Given the description of an element on the screen output the (x, y) to click on. 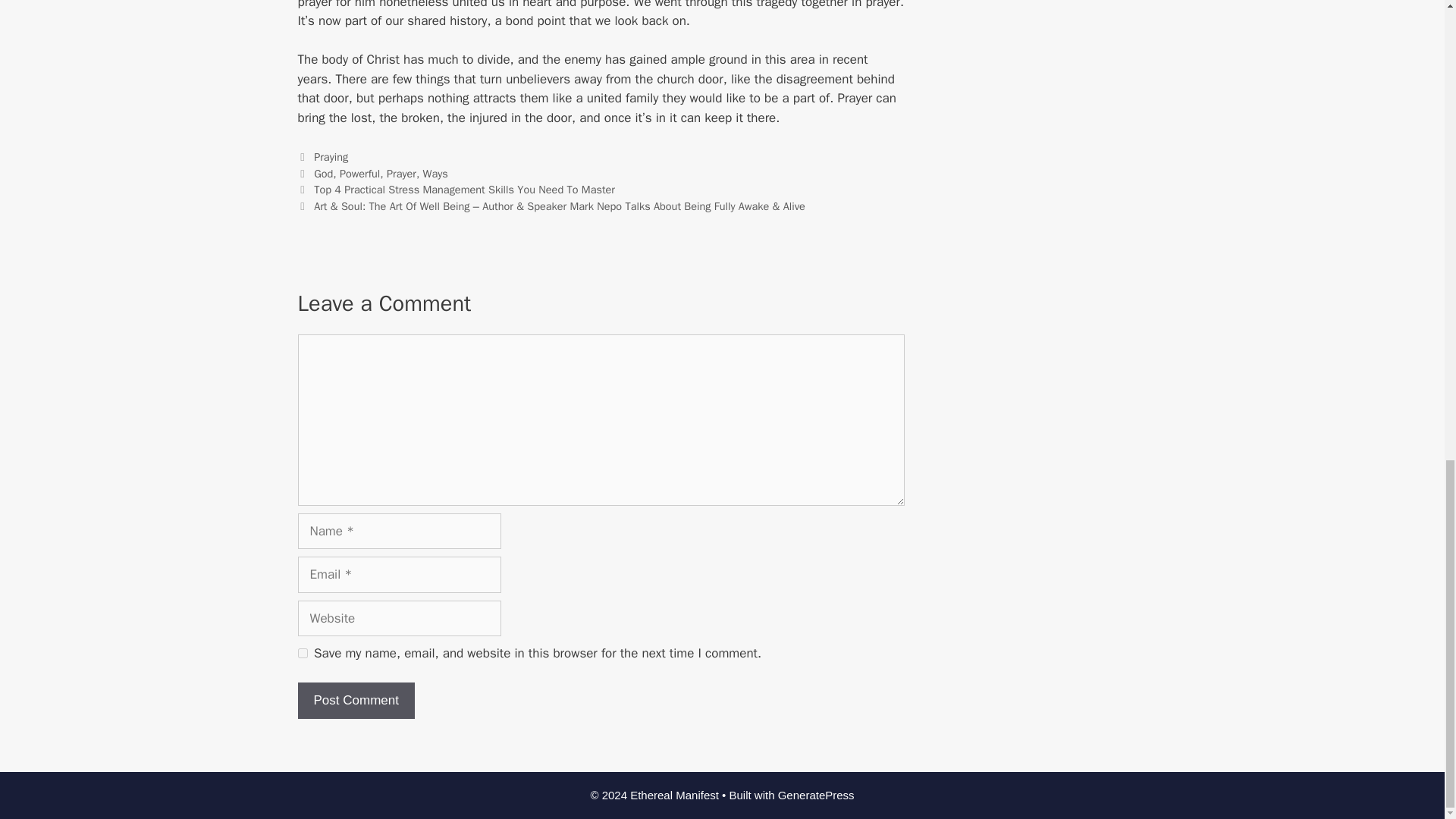
Praying (330, 156)
yes (302, 653)
God (323, 173)
Previous (455, 189)
Post Comment (355, 700)
Top 4 Practical Stress Management Skills You Need To Master (464, 189)
Post Comment (355, 700)
Powerful (359, 173)
Prayer (401, 173)
Ways (435, 173)
Next (551, 205)
